Given the description of an element on the screen output the (x, y) to click on. 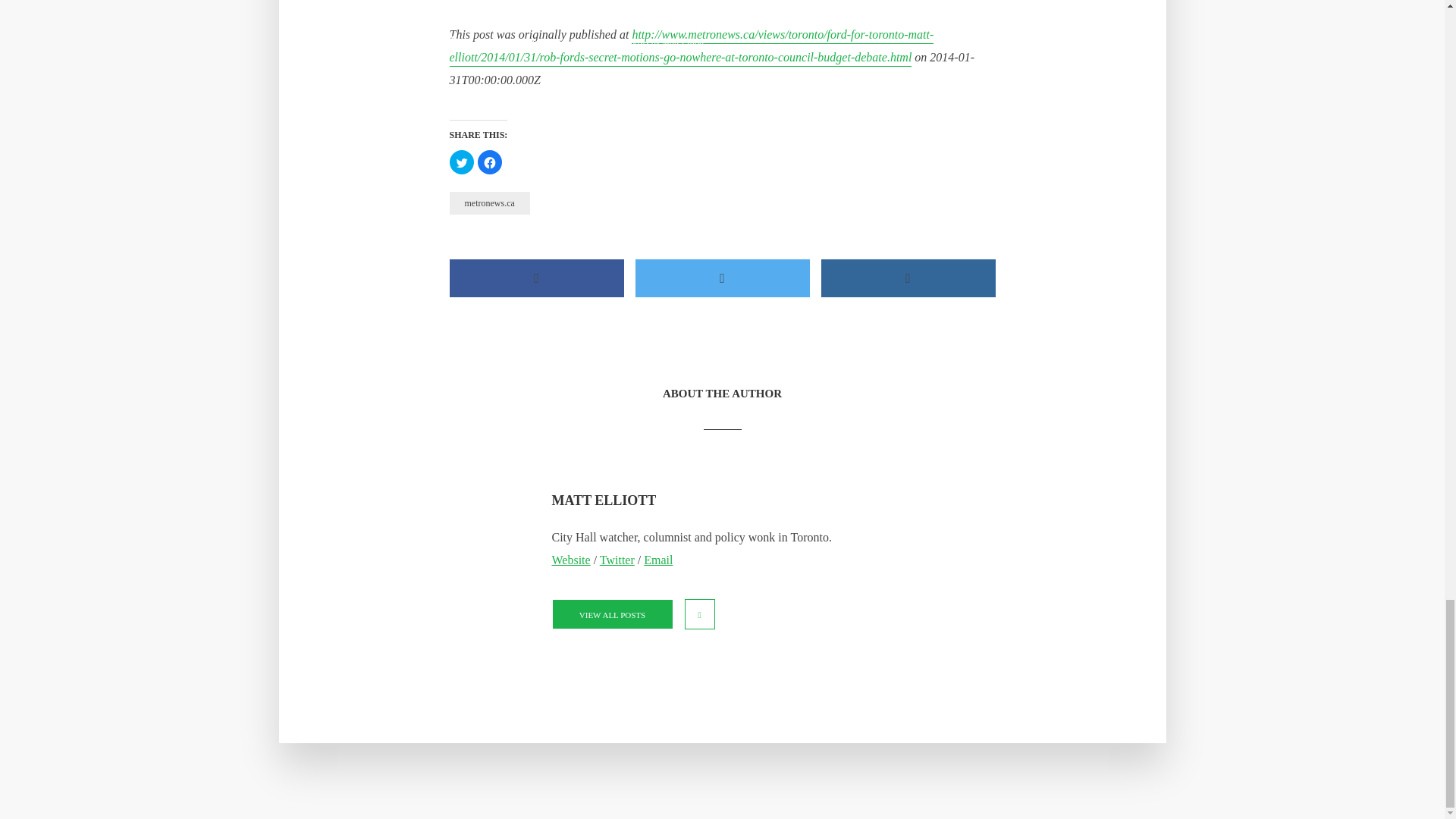
Twitter (616, 559)
Click to share on Twitter (460, 161)
Click to share on Facebook (489, 161)
Email (657, 559)
metronews.ca (488, 202)
Website (571, 559)
VIEW ALL POSTS (611, 613)
